Given the description of an element on the screen output the (x, y) to click on. 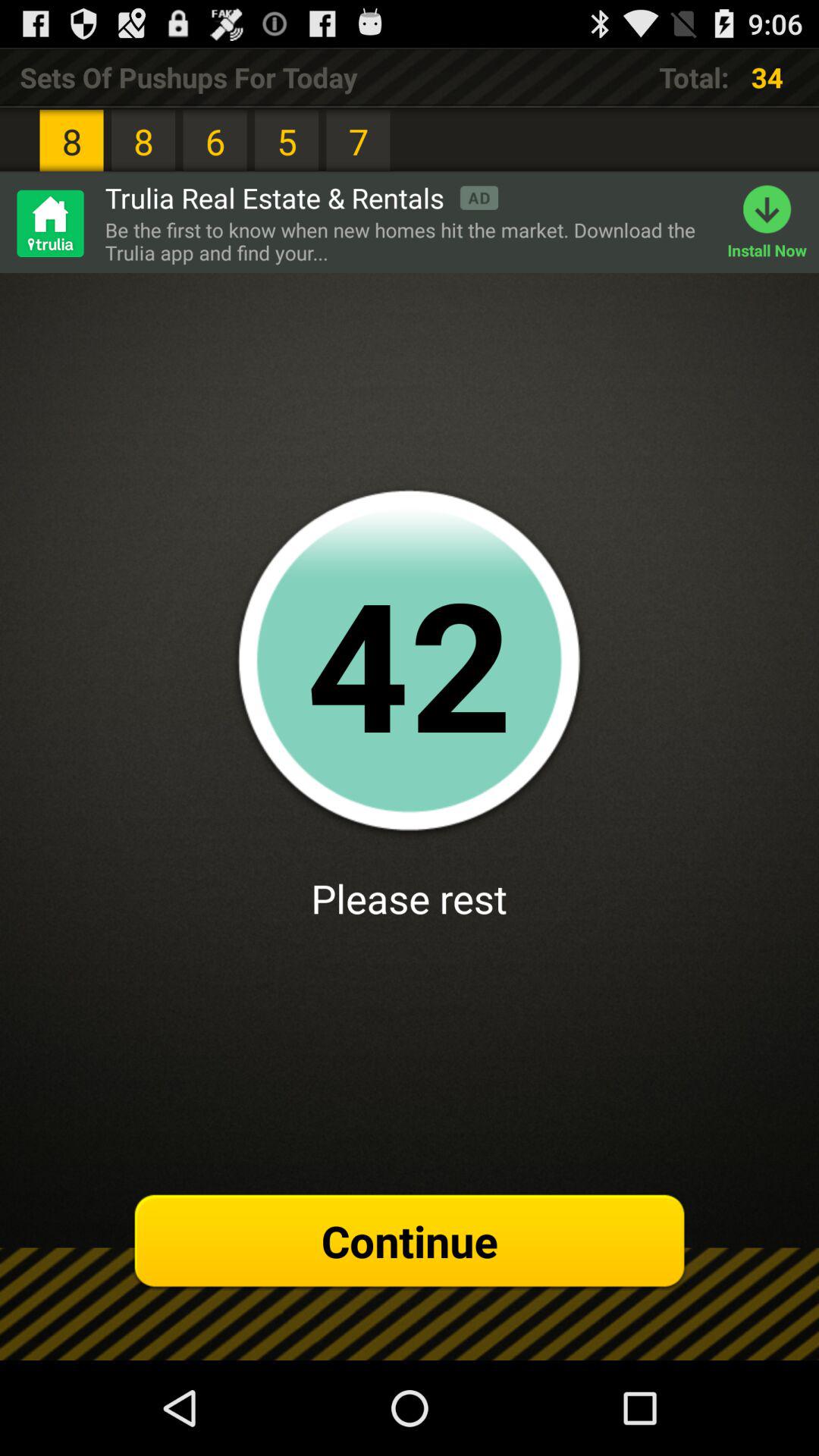
open the icon next to 8 item (301, 197)
